Given the description of an element on the screen output the (x, y) to click on. 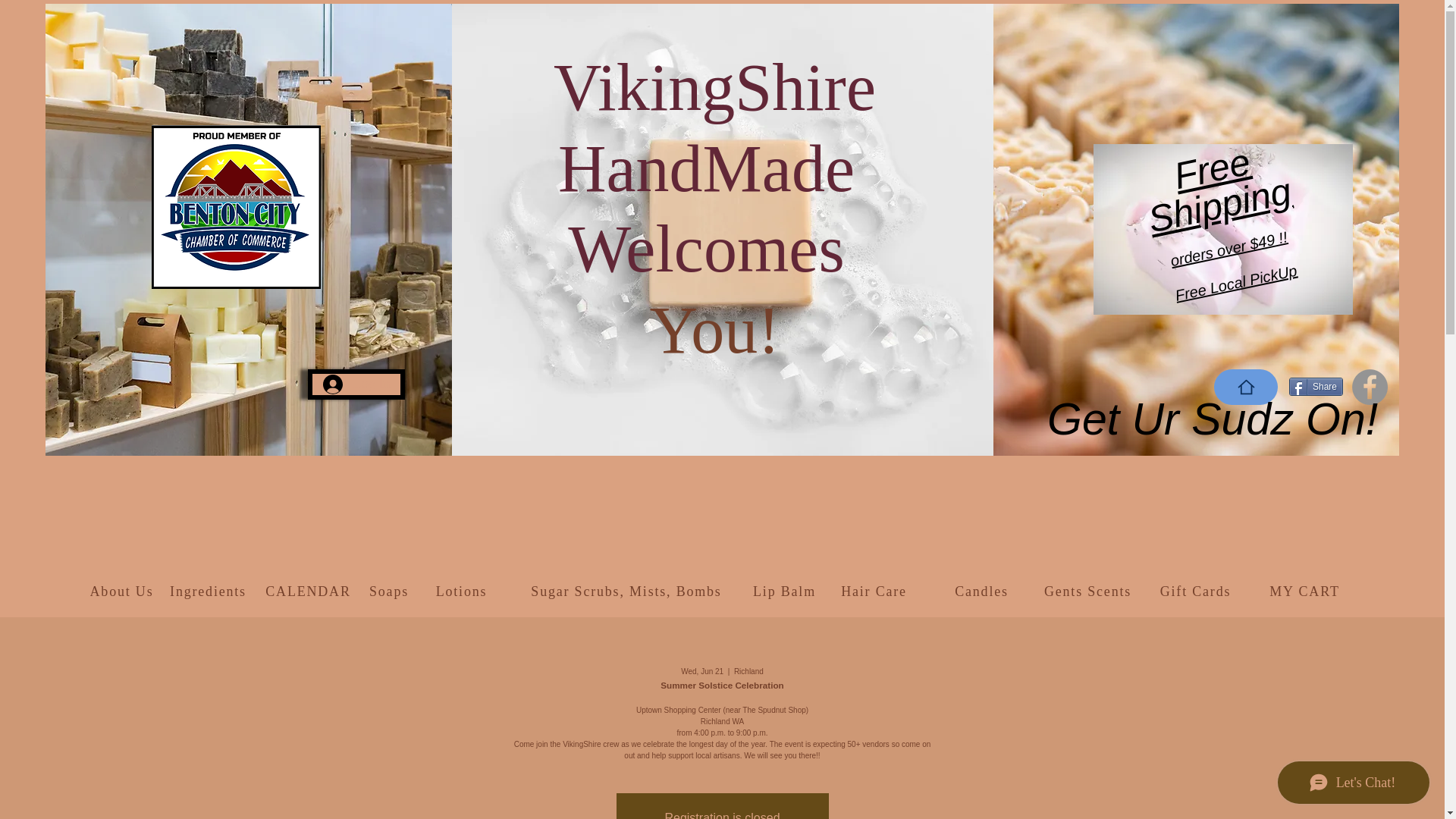
Ingredients (209, 591)
Hair Care (876, 591)
MY CART (1305, 591)
Share (1315, 386)
Gift Cards (1196, 591)
Gents Scents (1088, 591)
Share (1315, 386)
Soaps (390, 591)
Lip Balm (786, 591)
Lotions (462, 591)
